Given the description of an element on the screen output the (x, y) to click on. 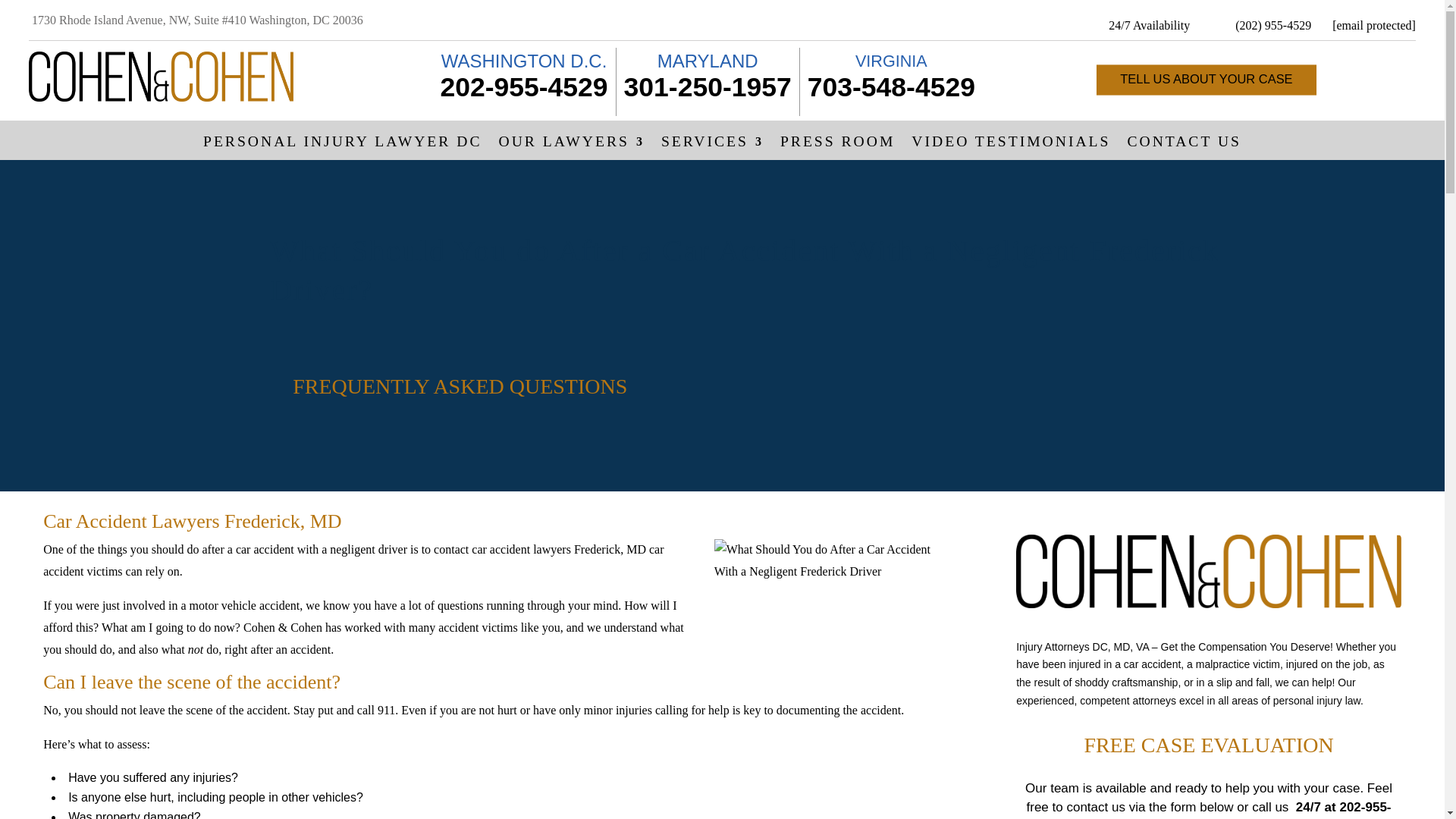
VIDEO TESTIMONIALS (1010, 144)
CONTACT US (1183, 144)
PERSONAL INJURY LAWYER DC (342, 144)
703-548-4529 (891, 87)
TELL US ABOUT YOUR CASE (1208, 79)
202-955-4529 (523, 87)
SERVICES (711, 144)
OUR LAWYERS (572, 144)
PRESS ROOM (837, 144)
301-250-1957 (708, 87)
